Given the description of an element on the screen output the (x, y) to click on. 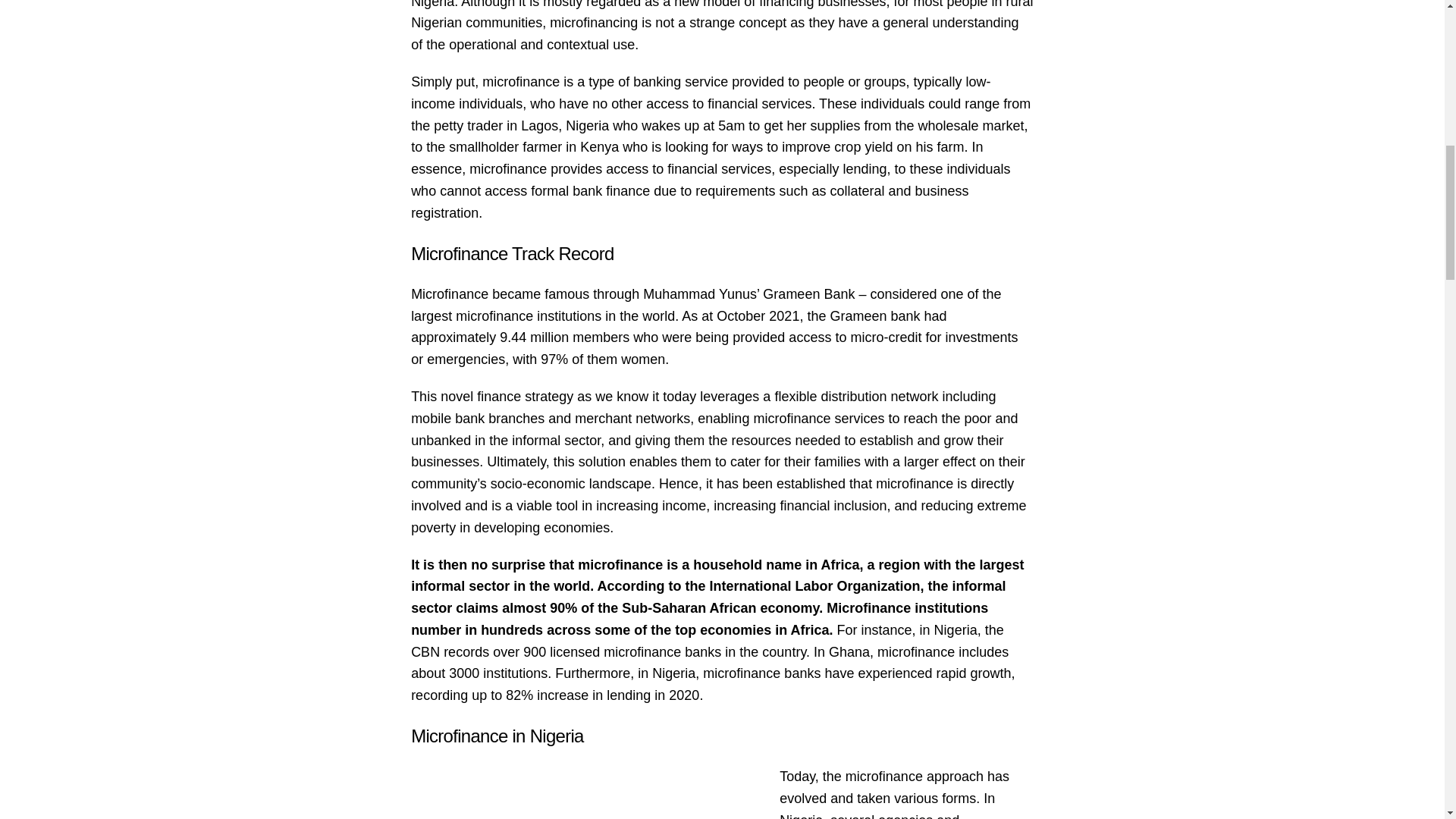
Page 2 (721, 771)
